Given the description of an element on the screen output the (x, y) to click on. 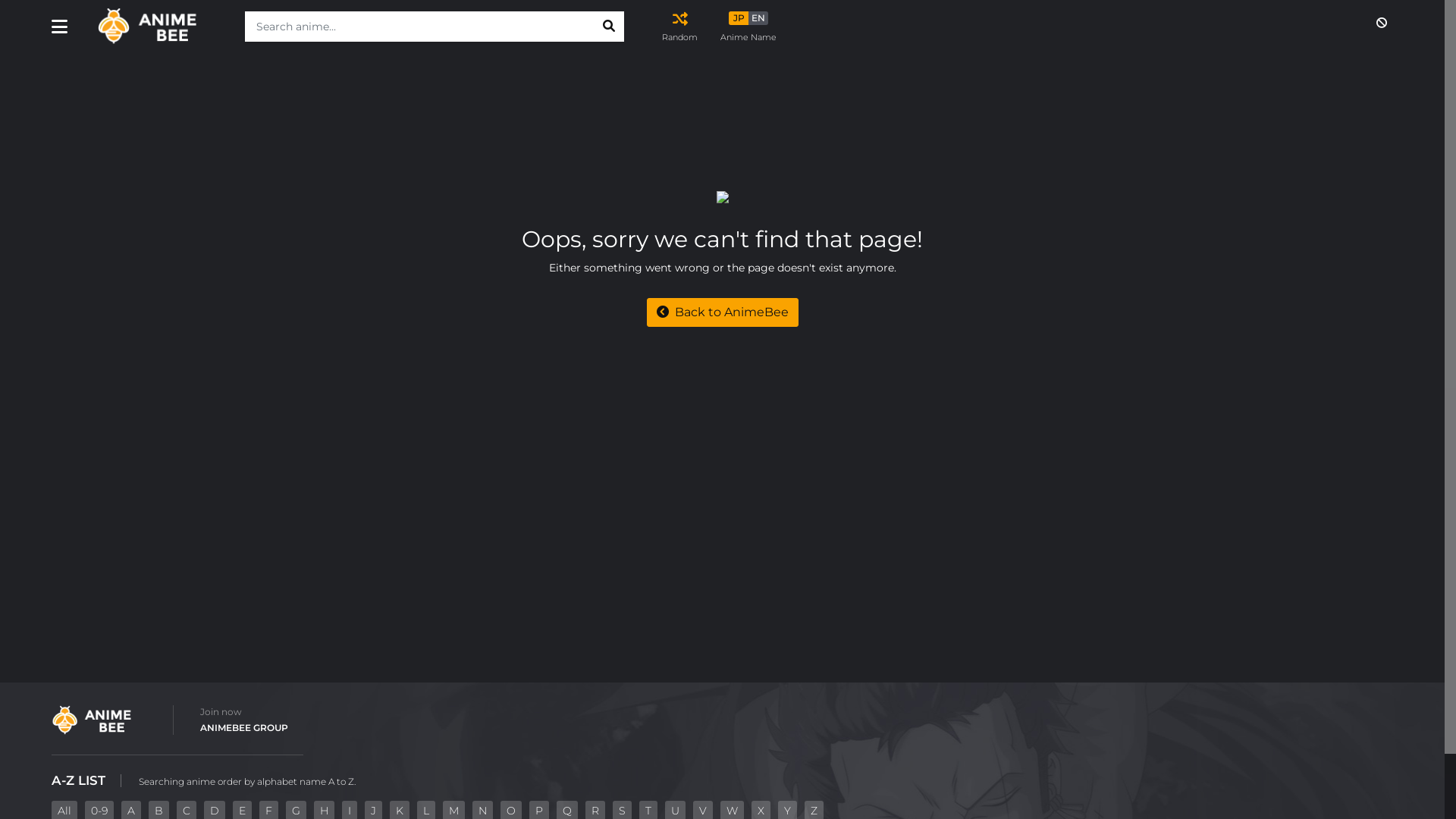
Animebee Element type: hover (158, 26)
Back to AnimeBee Element type: text (721, 312)
Random Element type: text (679, 26)
